Given the description of an element on the screen output the (x, y) to click on. 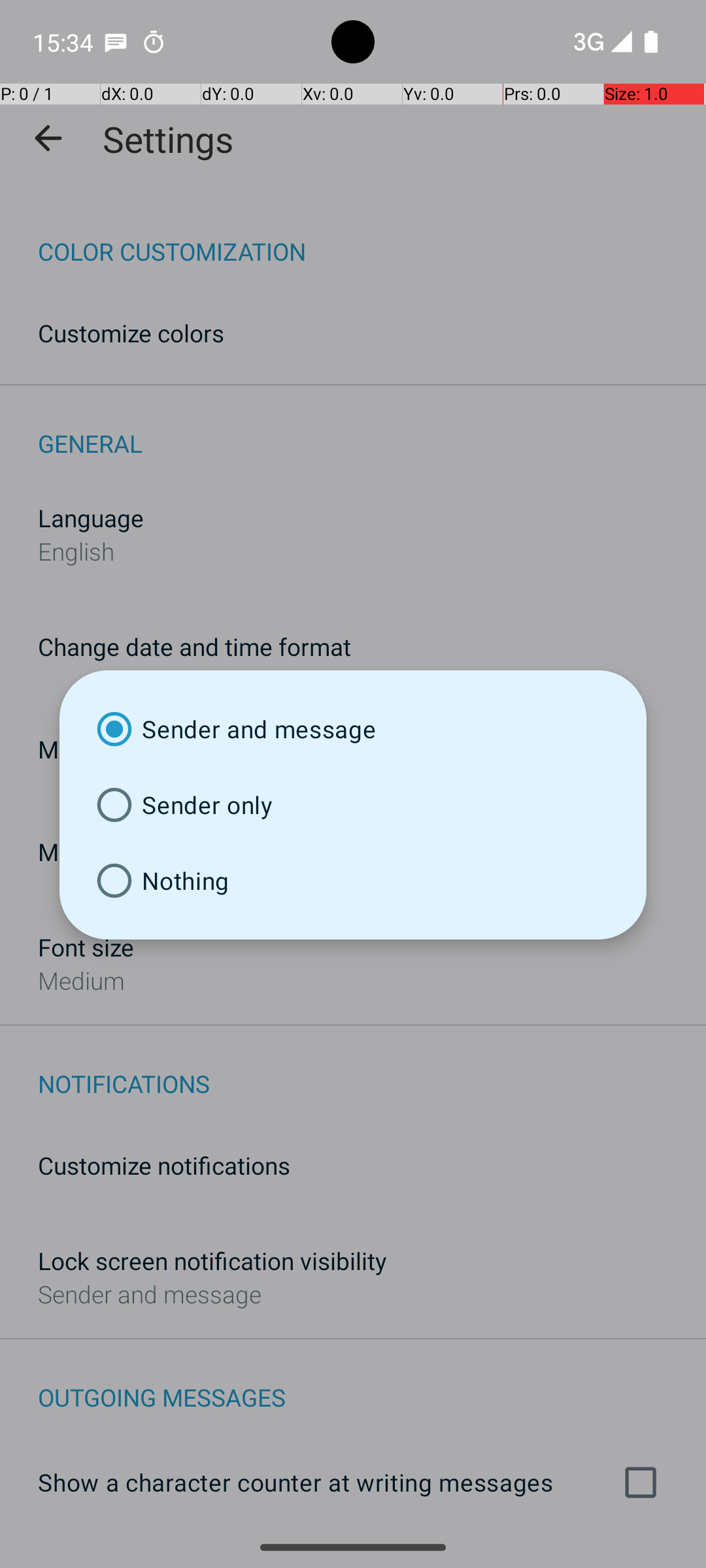
Nothing Element type: android.widget.RadioButton (352, 880)
SMS Messenger notification: Emil Liu Element type: android.widget.ImageView (115, 41)
